Given the description of an element on the screen output the (x, y) to click on. 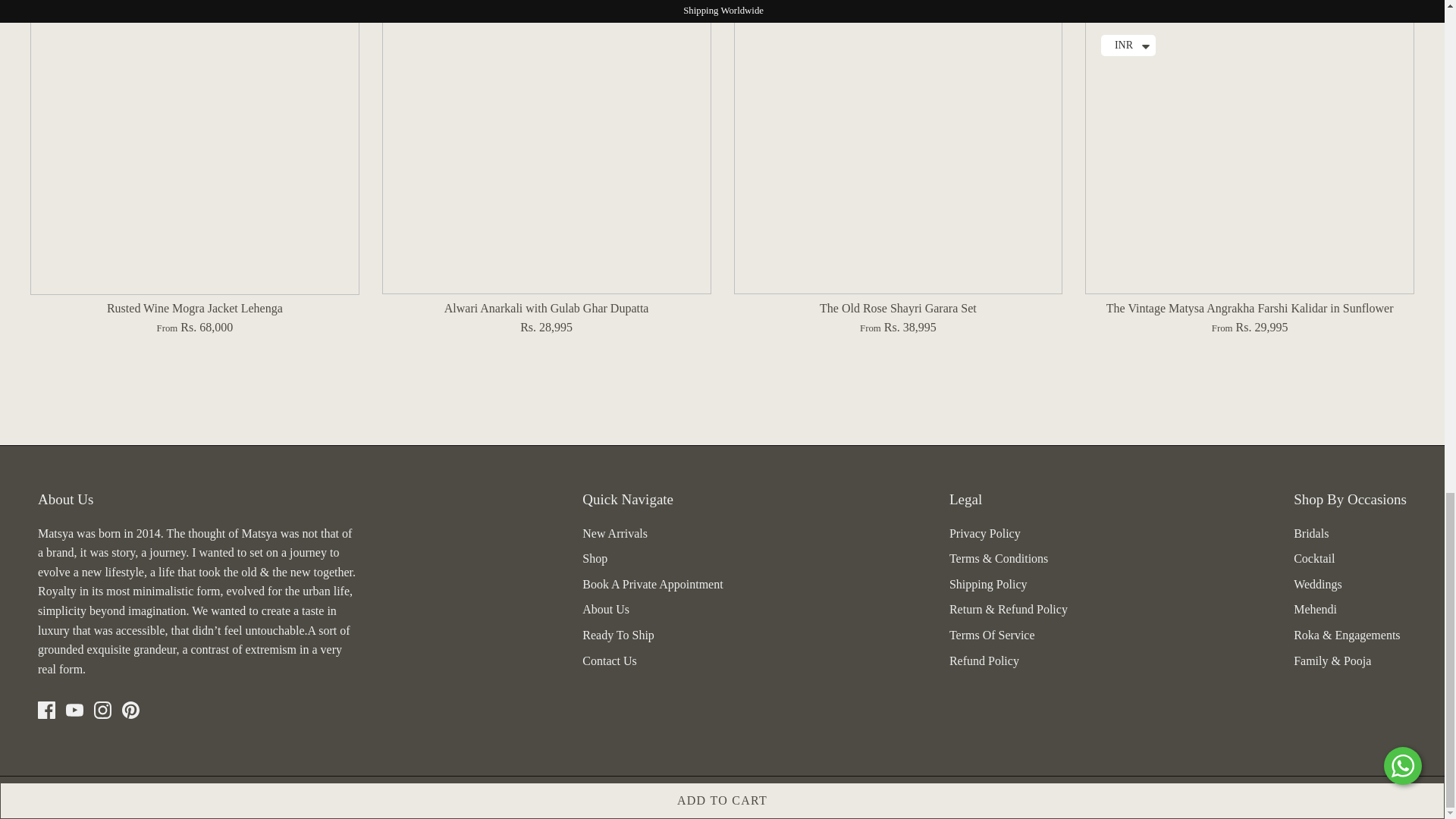
Pinterest (130, 710)
Youtube (73, 710)
Instagram (103, 710)
Facebook (46, 710)
